Given the description of an element on the screen output the (x, y) to click on. 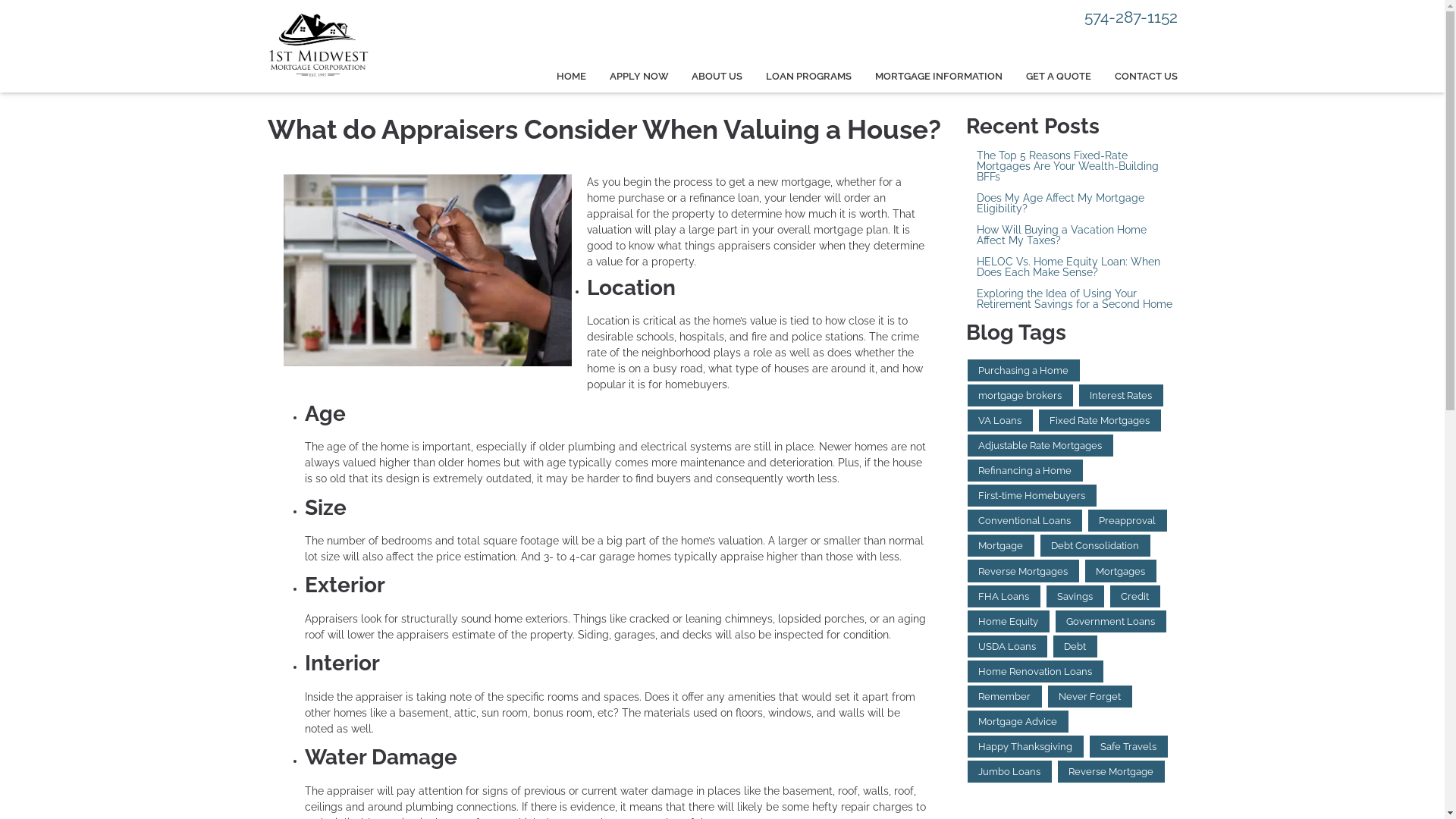
Debt Consolidation Element type: text (1095, 545)
Jumbo Loans Element type: text (1009, 771)
Interest Rates Element type: text (1121, 395)
APPLY NOW Element type: text (638, 76)
Debt Element type: text (1075, 646)
mortgage brokers Element type: text (1020, 395)
LOAN PROGRAMS Element type: text (808, 76)
Mortgage Element type: text (1000, 545)
Never Forget Element type: text (1090, 696)
Happy Thanksgiving Element type: text (1025, 746)
Refinancing a Home Element type: text (1024, 470)
Reverse Mortgages Element type: text (1023, 570)
How Will Buying a Vacation Home Affect My Taxes? Element type: text (1071, 234)
Adjustable Rate Mortgages Element type: text (1040, 445)
Reverse Mortgage Element type: text (1110, 771)
First-time Homebuyers Element type: text (1031, 495)
MORTGAGE INFORMATION Element type: text (938, 76)
Mortgage Advice Element type: text (1017, 721)
Home Renovation Loans Element type: text (1035, 671)
Savings Element type: text (1075, 596)
USDA Loans Element type: text (1007, 646)
Mortgages Element type: text (1120, 570)
Conventional Loans Element type: text (1024, 520)
HOME Element type: text (570, 76)
Safe Travels Element type: text (1128, 746)
Does My Age Affect My Mortgage Eligibility? Element type: text (1071, 202)
574-287-1152 Element type: text (1130, 16)
FHA Loans Element type: text (1003, 596)
ABOUT US Element type: text (717, 76)
Fixed Rate Mortgages Element type: text (1099, 420)
Government Loans Element type: text (1110, 621)
CONTACT US Element type: text (1139, 76)
HELOC Vs. Home Equity Loan: When Does Each Make Sense? Element type: text (1071, 266)
Purchasing a Home Element type: text (1023, 370)
Home Equity Element type: text (1008, 621)
Credit Element type: text (1135, 596)
Preapproval Element type: text (1127, 520)
GET A QUOTE Element type: text (1057, 76)
Remember Element type: text (1004, 696)
VA Loans Element type: text (999, 420)
